Given the description of an element on the screen output the (x, y) to click on. 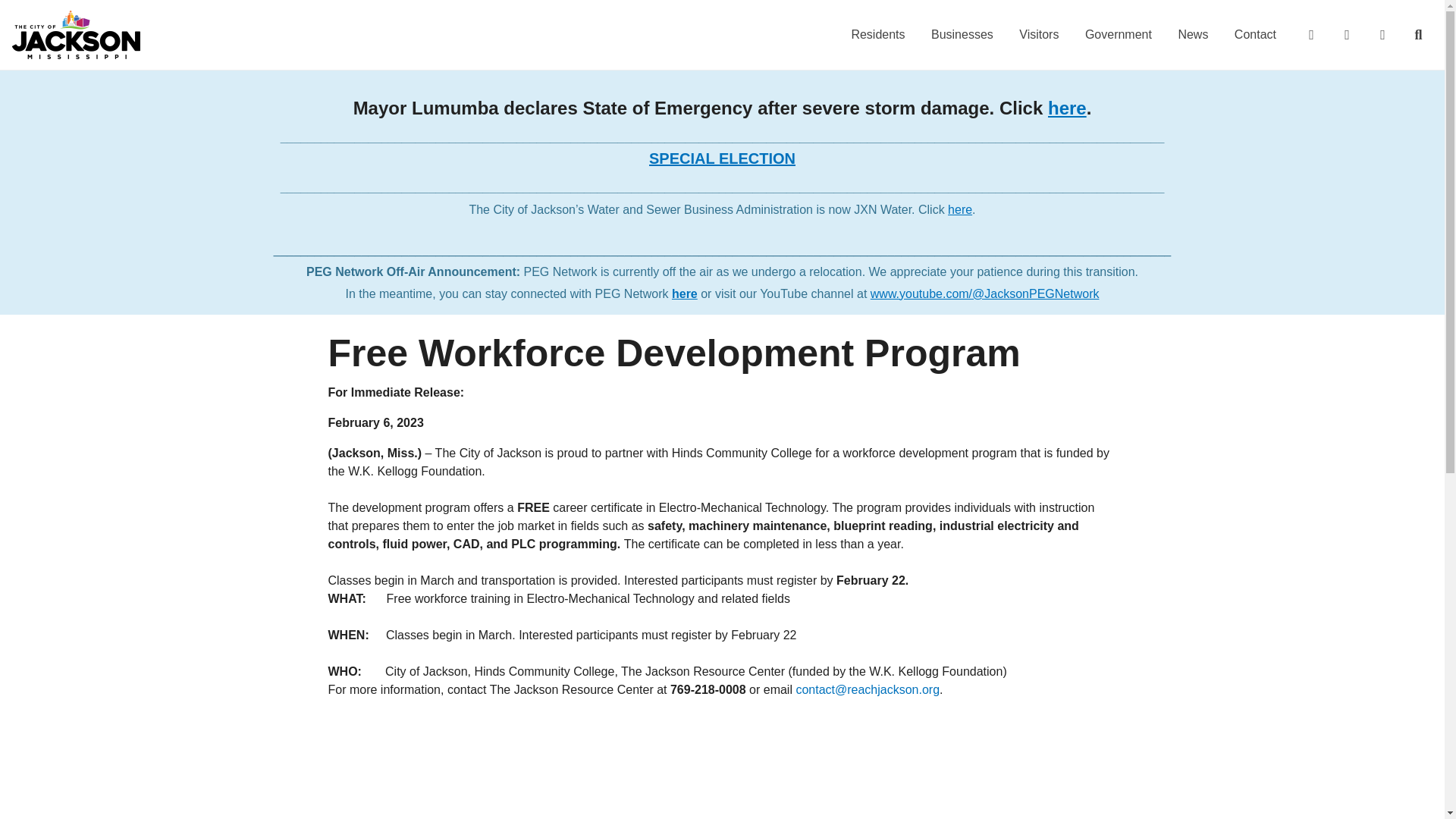
Visitors (1038, 34)
News (1193, 34)
SPECIAL ELECTION (721, 158)
Payments (1345, 35)
Report Issue (1381, 35)
Answers (1309, 35)
Search (1417, 35)
here (684, 293)
Home (75, 34)
Answers (1309, 35)
